Given the description of an element on the screen output the (x, y) to click on. 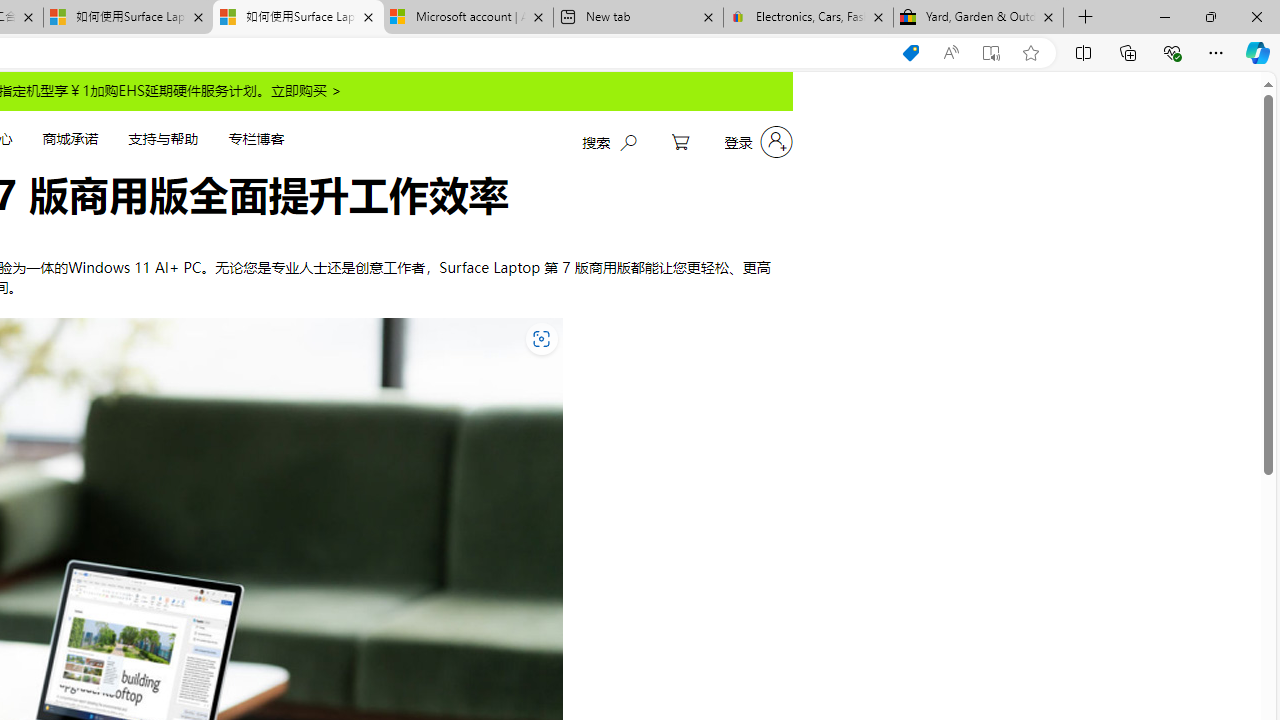
Shopping in Microsoft Edge (910, 53)
Microsoft account | Account Checkup (468, 17)
